Given the description of an element on the screen output the (x, y) to click on. 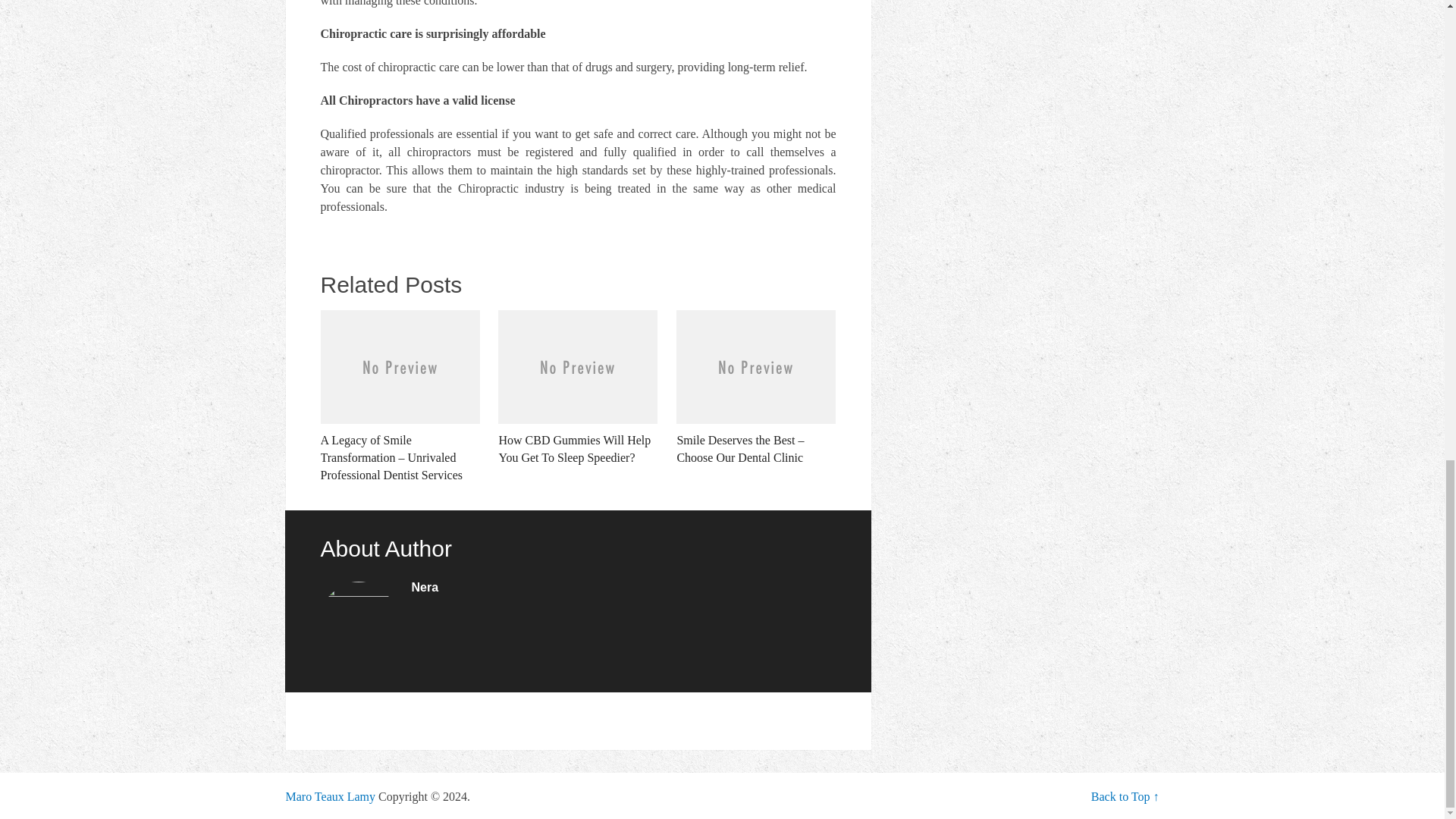
Maro Teaux Lamy (330, 796)
How CBD Gummies Will Help You Get To Sleep Speedier? (577, 388)
How CBD Gummies Will Help You Get To Sleep Speedier? (577, 388)
Stroke of genious will never bite the dust (330, 796)
